Given the description of an element on the screen output the (x, y) to click on. 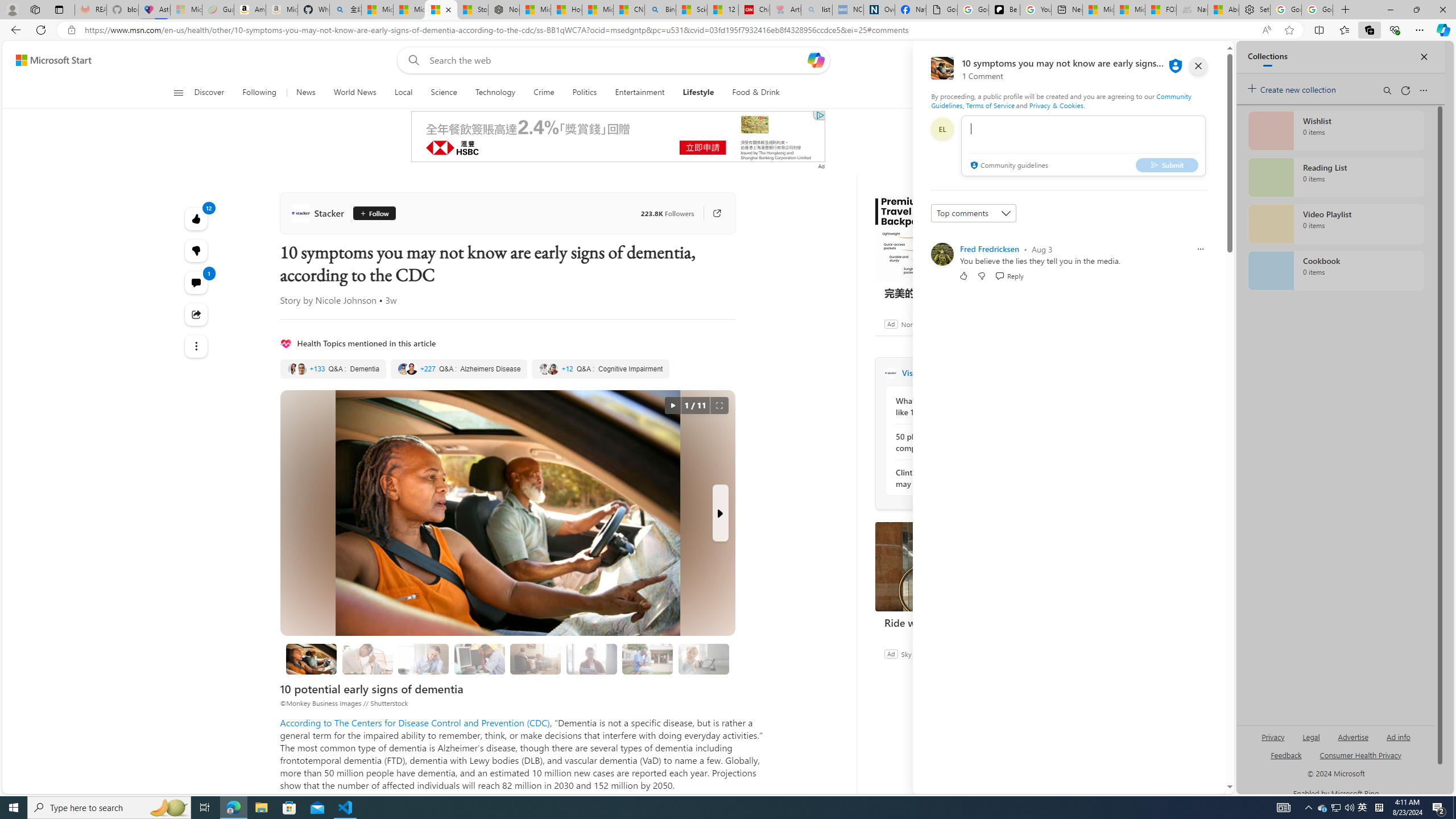
Full screen (719, 405)
Open settings (1199, 60)
10 potential early signs of dementia (311, 659)
Dislike (981, 275)
Google Analytics Opt-out Browser Add-on Download Page (941, 9)
12 Like (196, 218)
Web search (411, 60)
Personalize (1019, 92)
10 potential early signs of dementia (311, 658)
